Given the description of an element on the screen output the (x, y) to click on. 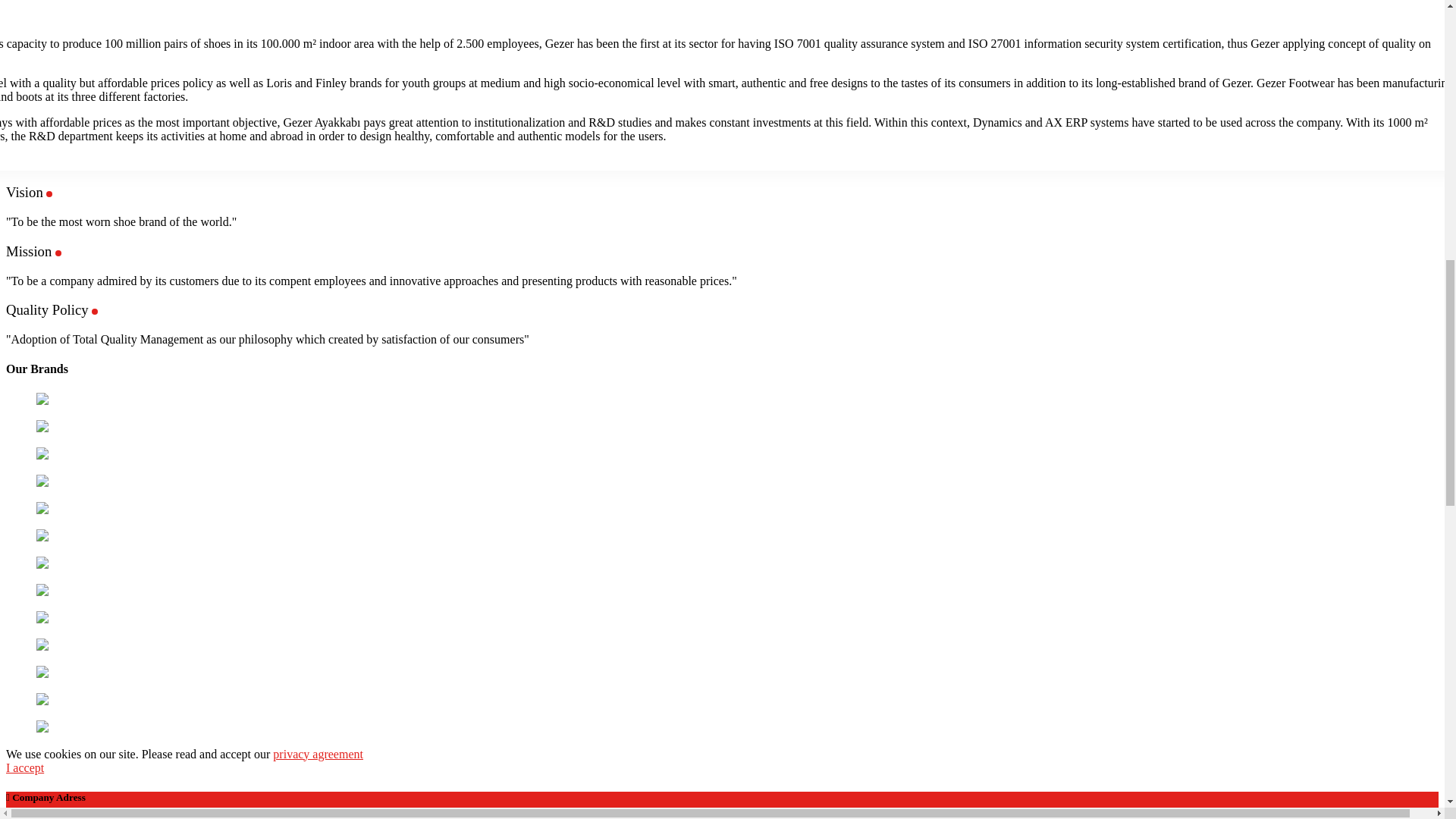
I accept (24, 767)
privacy agreement (317, 753)
